Given the description of an element on the screen output the (x, y) to click on. 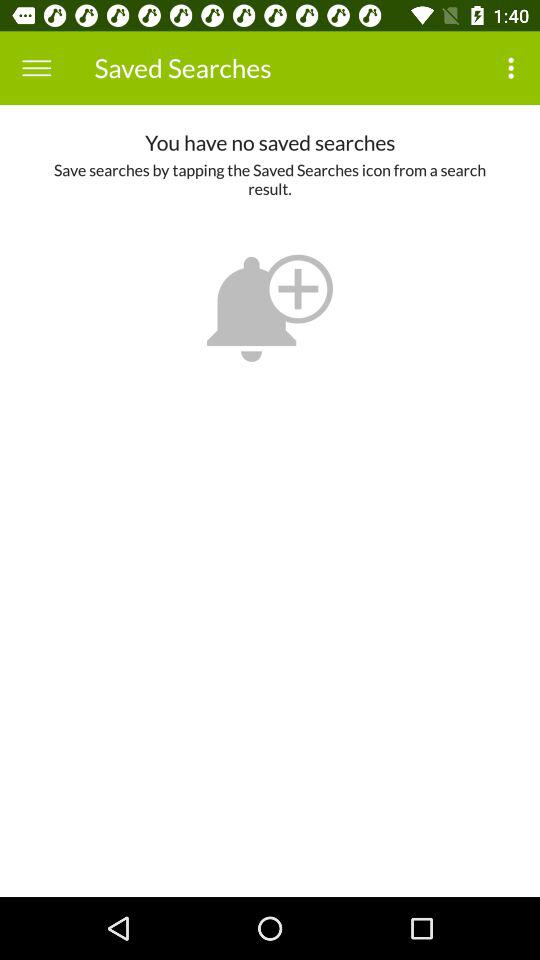
launch item at the top right corner (513, 67)
